Given the description of an element on the screen output the (x, y) to click on. 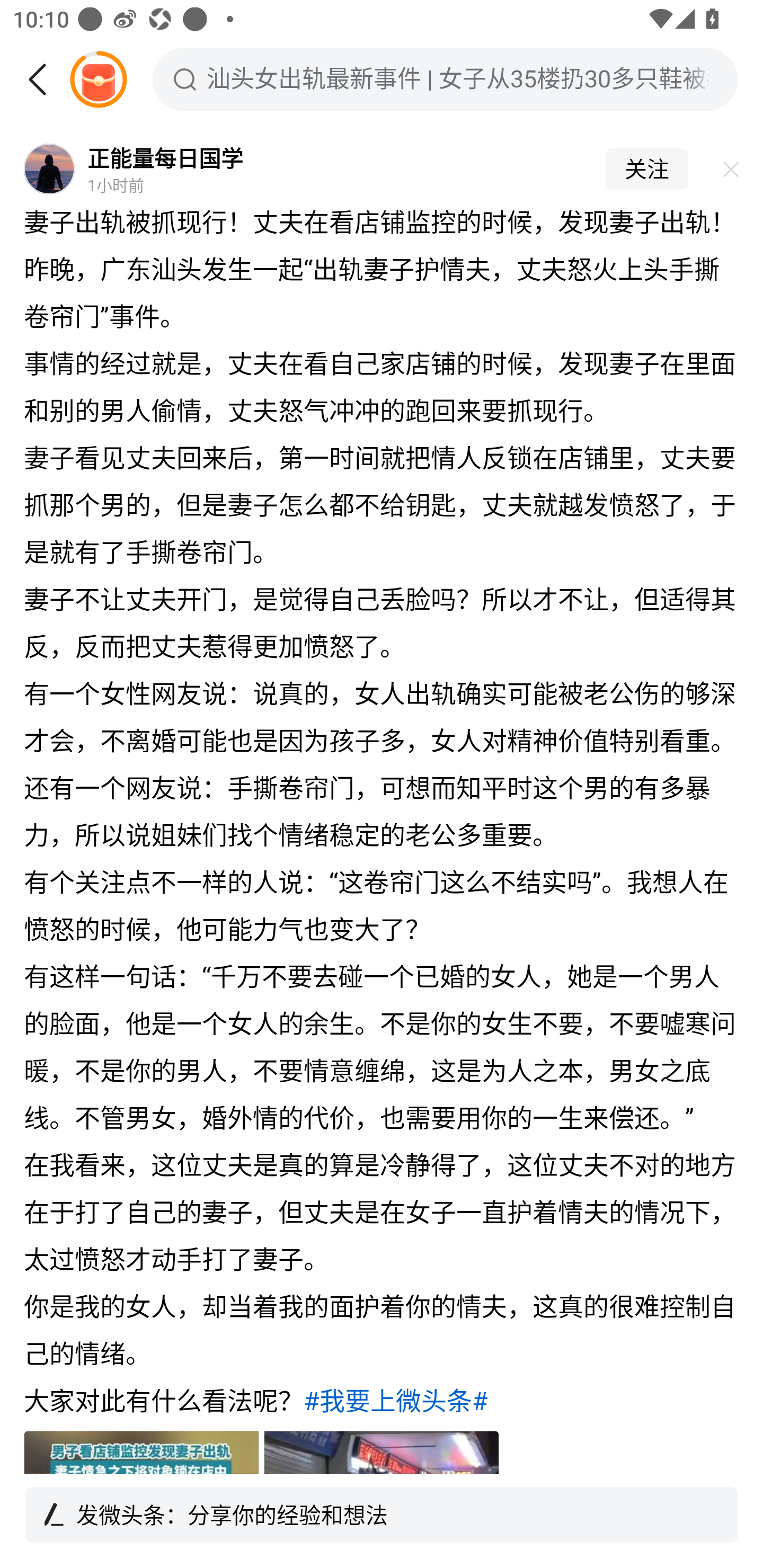
返回 (44, 78)
阅读赚金币 (98, 79)
正能量每日国学 (165, 157)
正能量每日国学头像 (48, 169)
关注 (646, 168)
减少此类内容推荐 (726, 168)
发微头条： 分享你的经验和想法 (381, 1520)
